Given the description of an element on the screen output the (x, y) to click on. 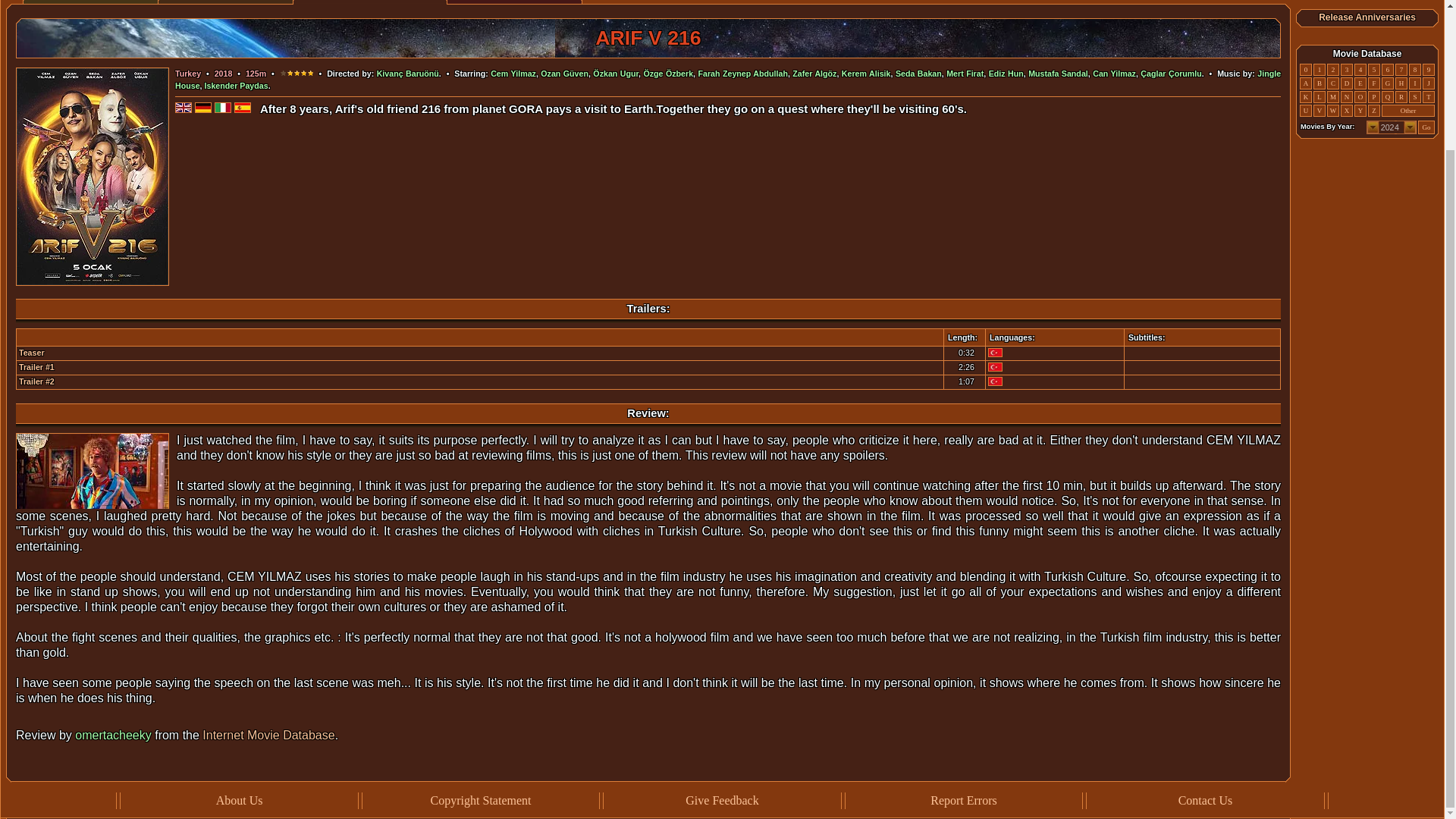
Turkish (995, 366)
Turkish (995, 352)
Internet Movie Database (268, 735)
Teaser (31, 352)
Turkish (995, 380)
Release Anniversaries (1367, 17)
